Given the description of an element on the screen output the (x, y) to click on. 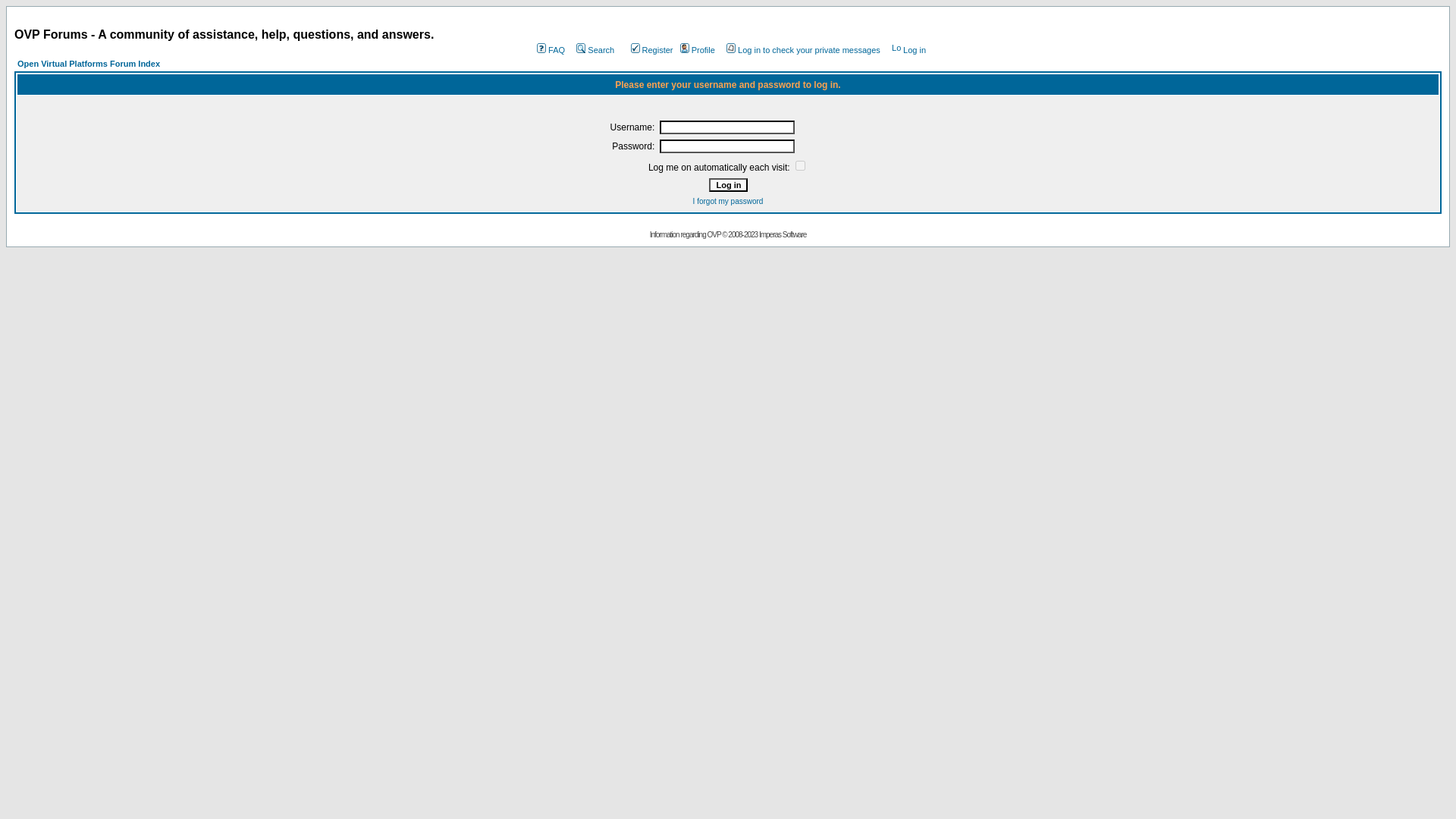
Log in to check your private messages (801, 49)
Open Virtual Platforms Forum Index (88, 62)
Profile (696, 49)
I forgot my password (727, 201)
Search (593, 49)
FAQ (549, 49)
Register (650, 49)
Log in (726, 184)
on (799, 165)
Log in (726, 184)
Log in (907, 49)
